Given the description of an element on the screen output the (x, y) to click on. 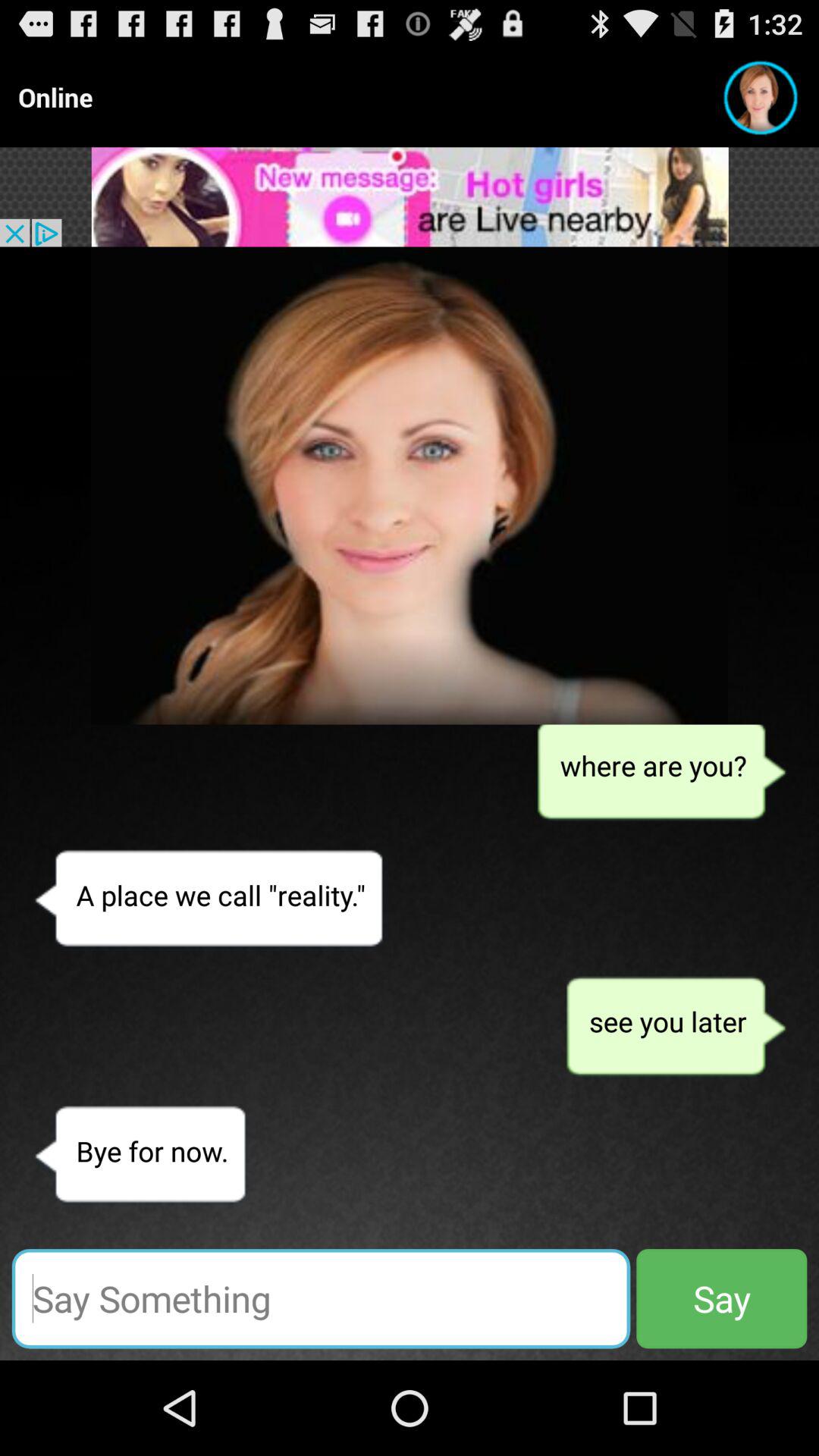
go to previous (409, 485)
